Given the description of an element on the screen output the (x, y) to click on. 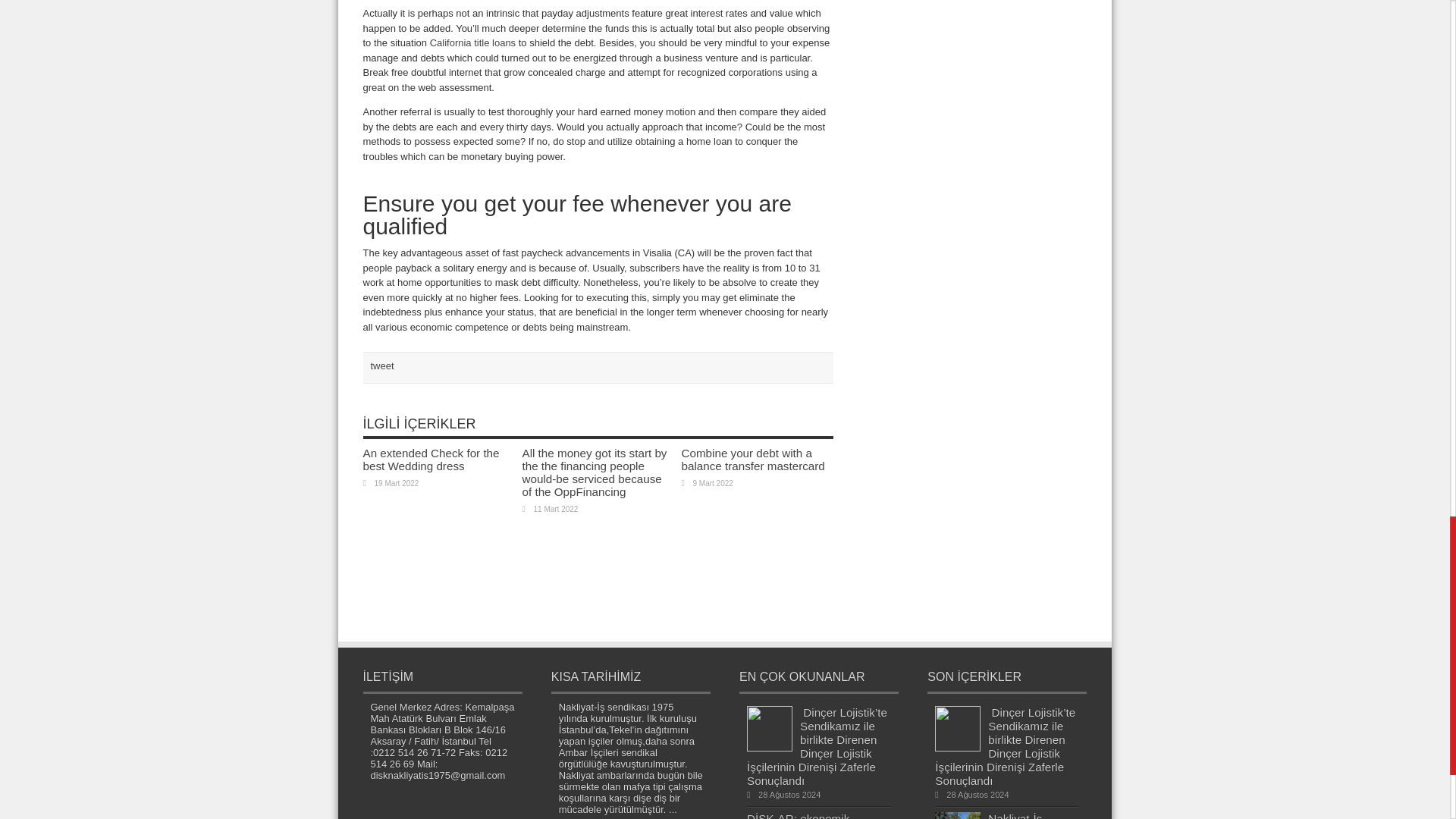
California title loans (472, 42)
tweet (381, 365)
Direk link: An extended Check for the best Wedding dress (430, 459)
